Given the description of an element on the screen output the (x, y) to click on. 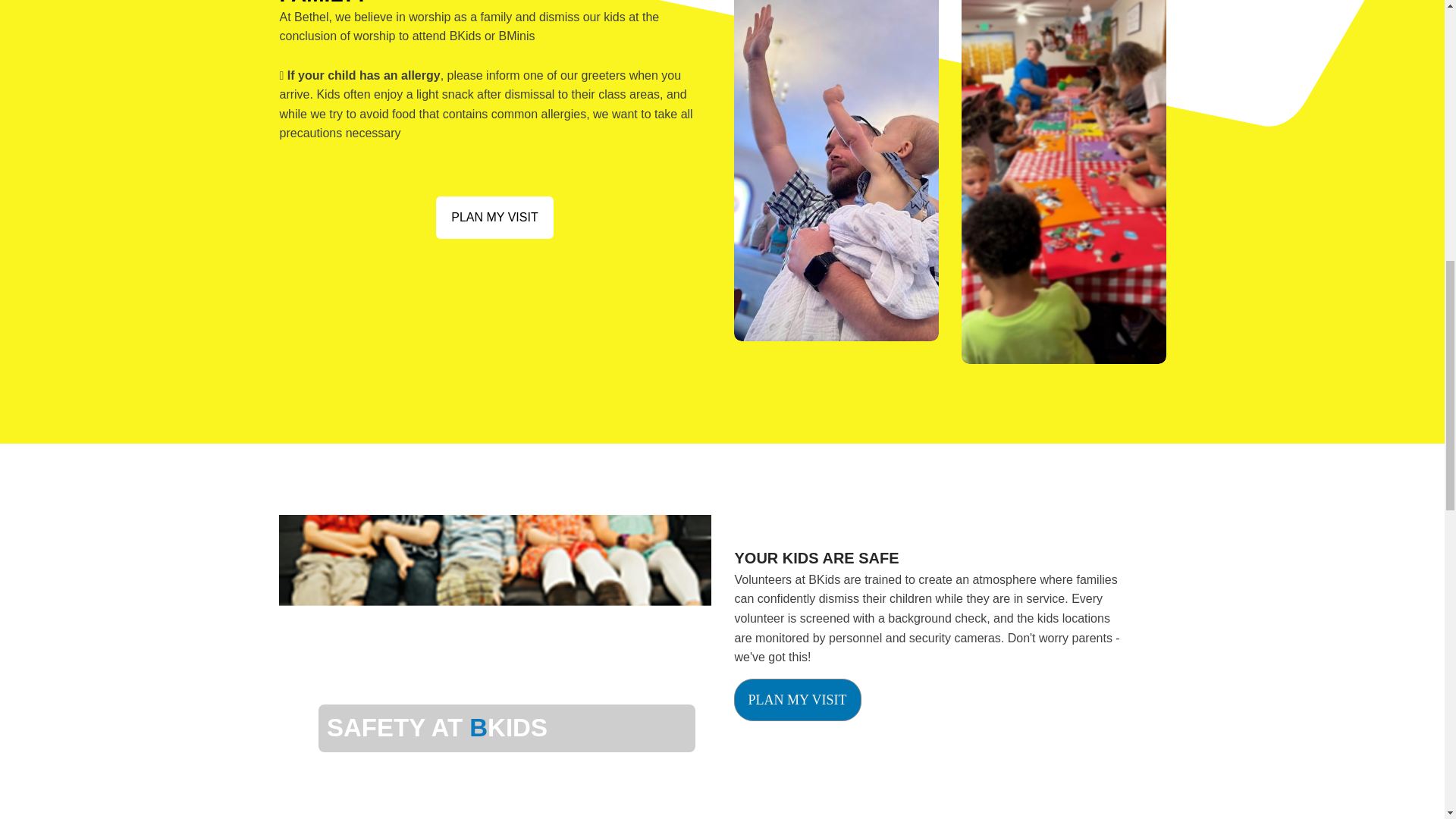
PLAN MY VISIT (797, 699)
PLAN MY VISIT (494, 217)
